Given the description of an element on the screen output the (x, y) to click on. 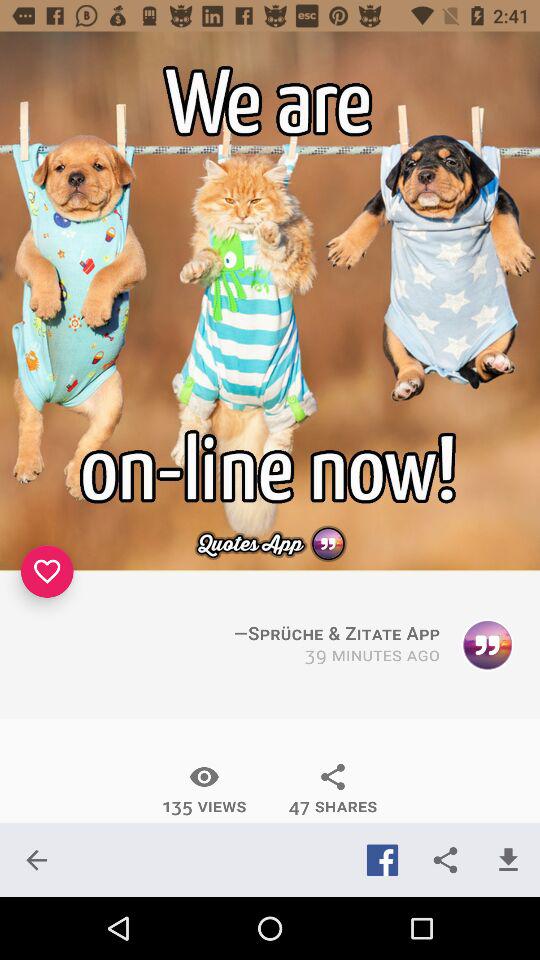
turn off the item to the right of the 135 views item (332, 789)
